Given the description of an element on the screen output the (x, y) to click on. 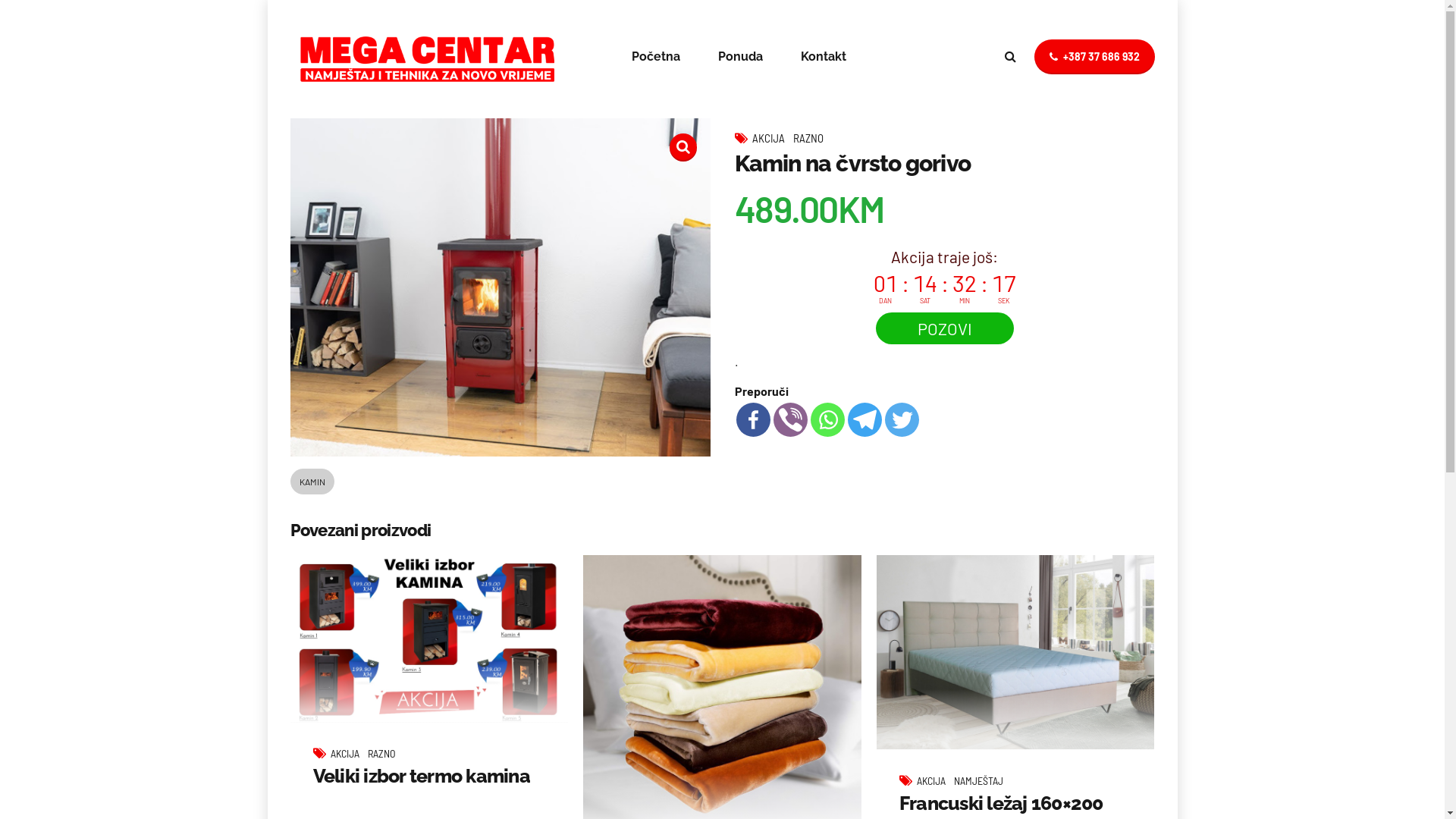
Twitter Element type: hover (901, 419)
RAZNO Element type: text (808, 138)
AKCIJA Element type: text (934, 780)
Whatsapp Element type: hover (826, 419)
+387 37 686 932 Element type: text (1094, 56)
KAMIN Element type: text (311, 481)
AKCIJA Element type: text (348, 753)
Telegram Element type: hover (864, 419)
KAMIN NA CVRSTO GORIVO-AKCIJA DO 25.11.2023.-489.00 Element type: hover (499, 287)
Kontakt Element type: text (823, 56)
POZOVI Element type: text (944, 328)
Veliki izbor termo kamina Element type: text (420, 775)
Ponuda Element type: text (739, 56)
Facebook Element type: hover (752, 419)
Viber Element type: hover (790, 419)
AKCIJA Element type: text (772, 138)
RAZNO Element type: text (381, 753)
